Given the description of an element on the screen output the (x, y) to click on. 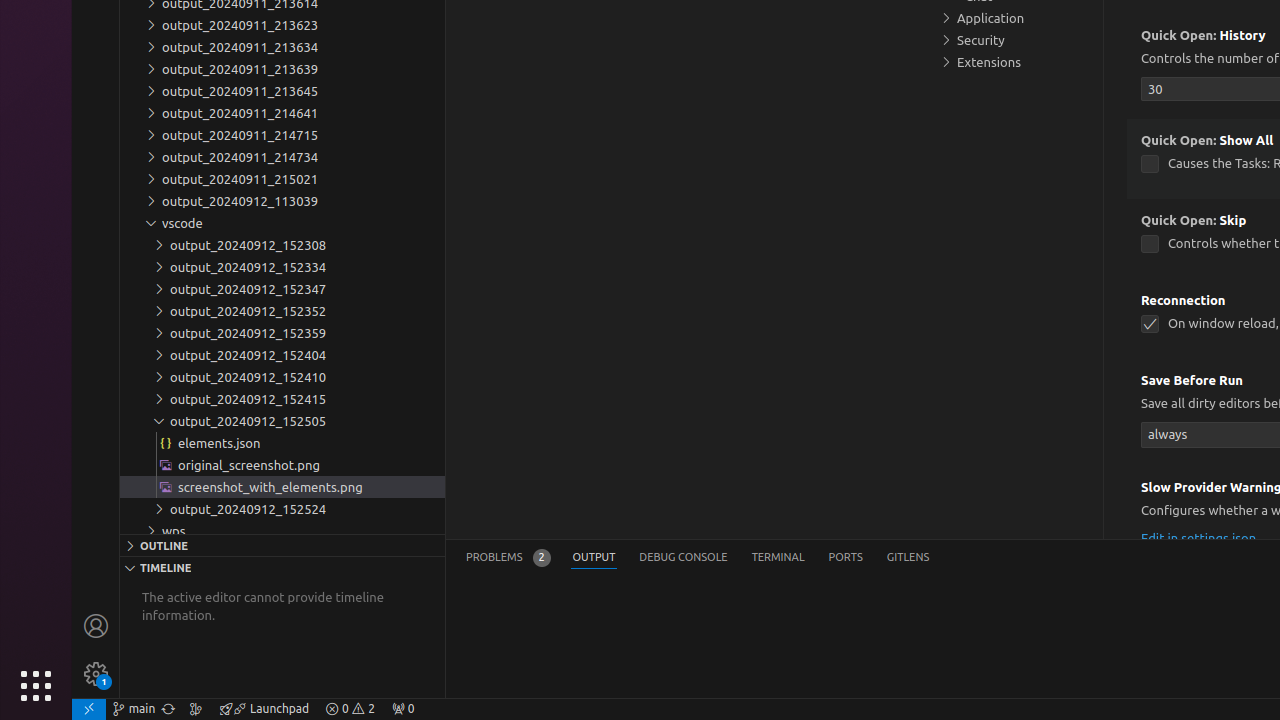
output_20240912_152415 Element type: tree-item (282, 399)
Output (Ctrl+K Ctrl+H) Element type: page-tab (594, 557)
wps Element type: tree-item (282, 531)
OSWorld (Git) - Synchronize Changes Element type: push-button (168, 709)
output_20240911_213623 Element type: tree-item (282, 25)
